Given the description of an element on the screen output the (x, y) to click on. 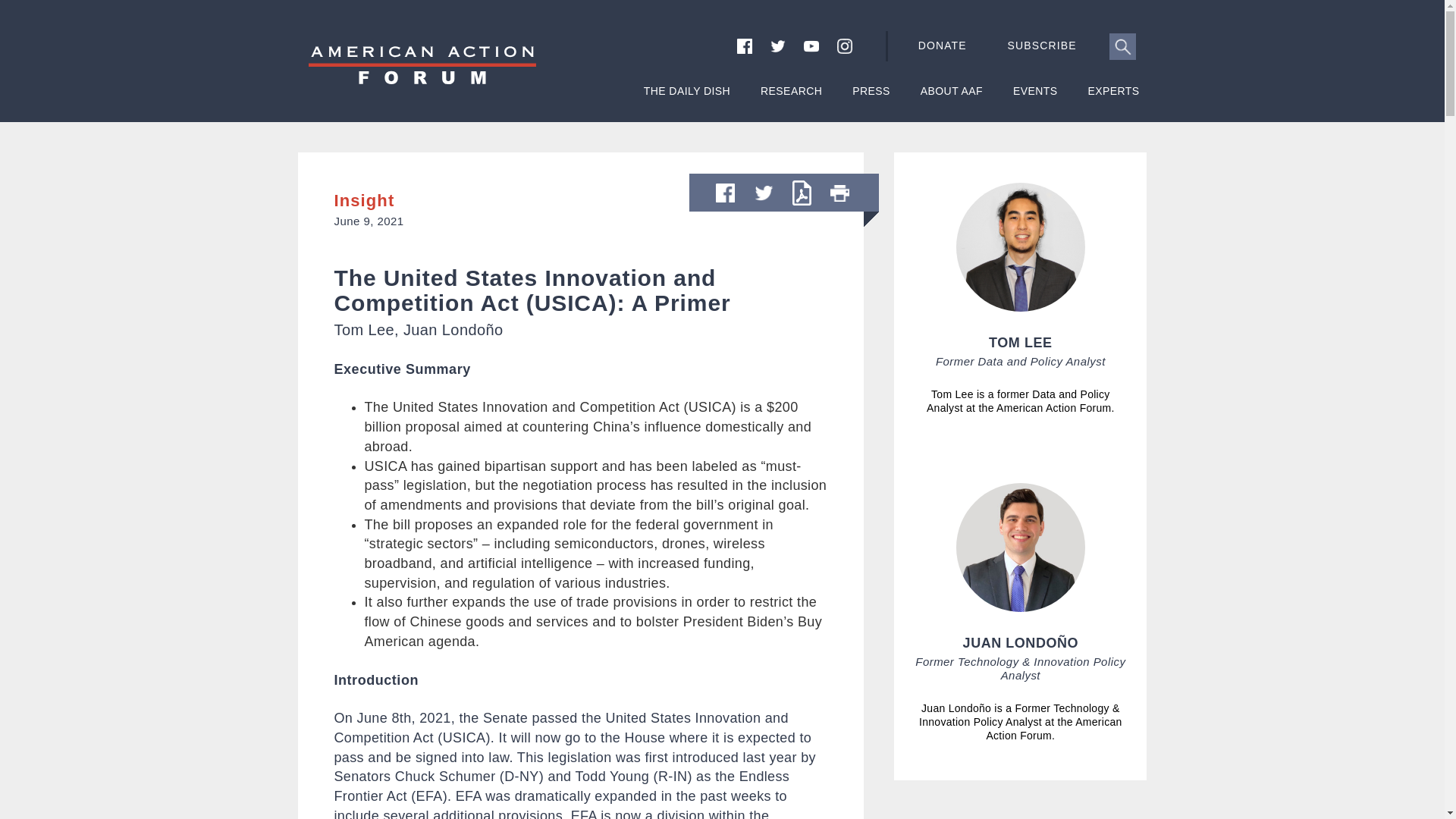
DONATE (944, 46)
THE DAILY DISH (686, 99)
RESEARCH (791, 99)
SUBSCRIBE (1056, 46)
EVENTS (1035, 99)
ABOUT AAF (951, 99)
EXPERTS (1112, 99)
